Given the description of an element on the screen output the (x, y) to click on. 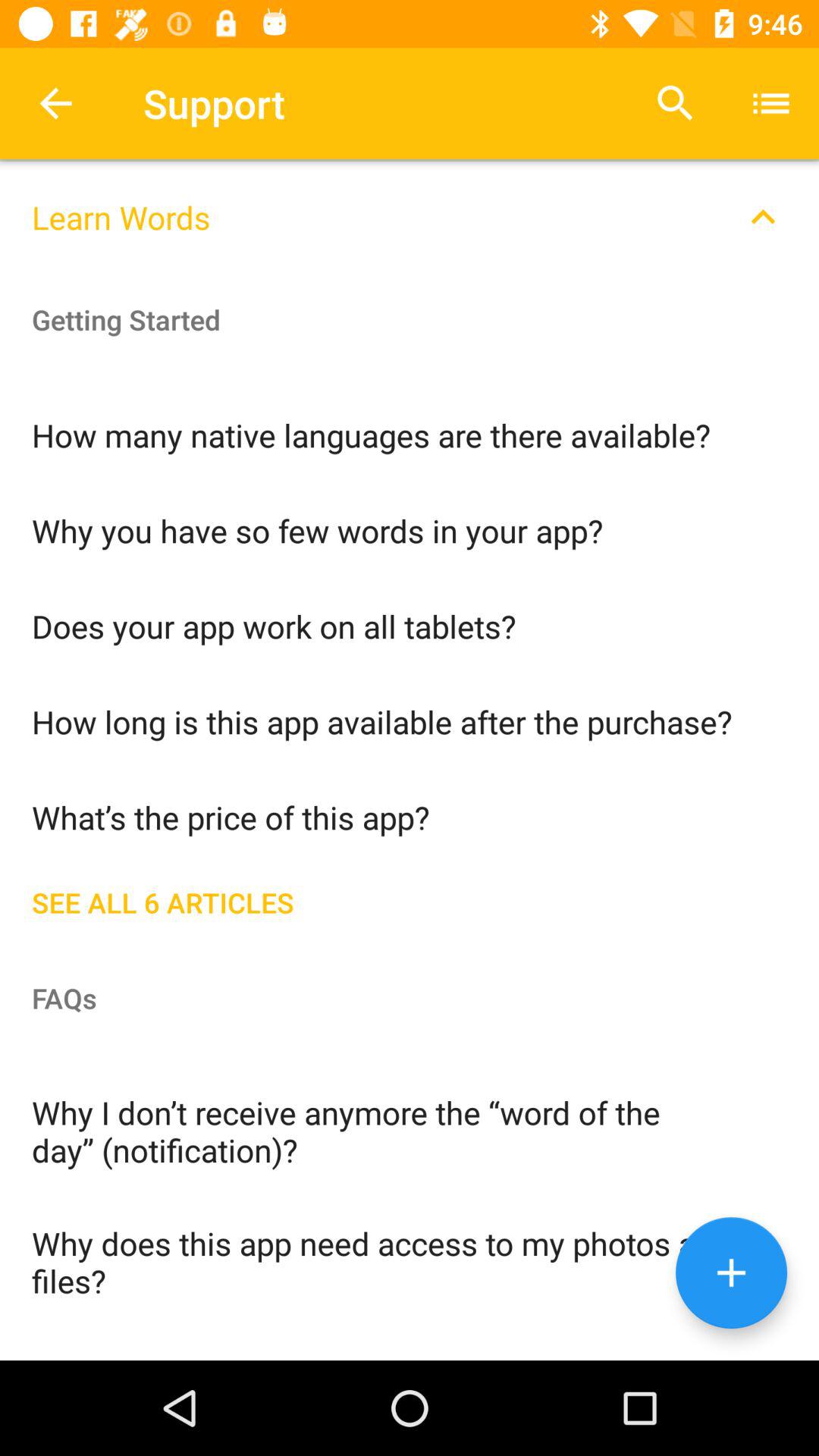
click icon above why does this icon (409, 1129)
